Given the description of an element on the screen output the (x, y) to click on. 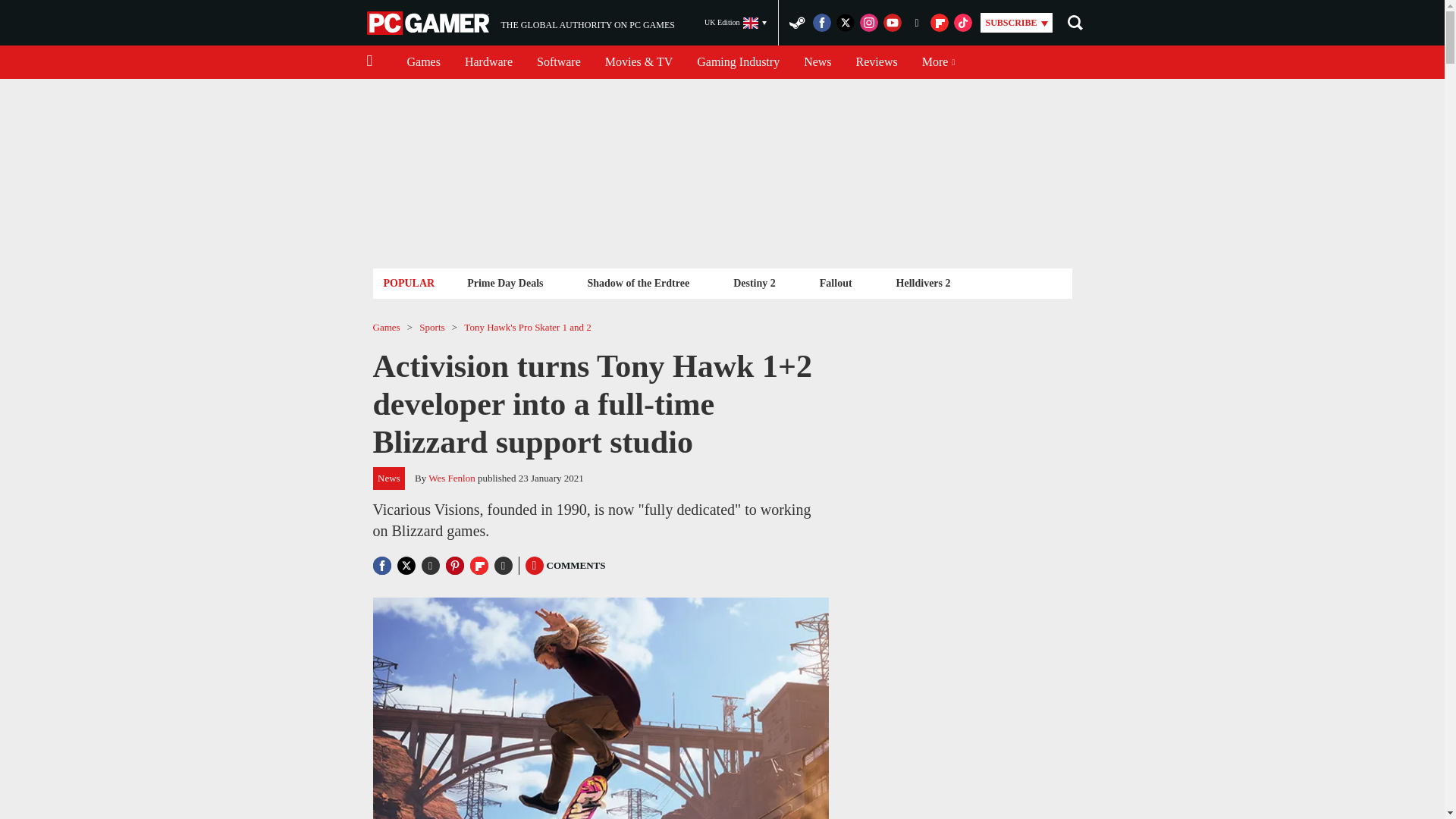
Gaming Industry (738, 61)
News (520, 22)
Games (817, 61)
Prime Day Deals (422, 61)
PC Gamer (504, 282)
UK Edition (429, 22)
Reviews (735, 22)
Shadow of the Erdtree (877, 61)
Hardware (637, 282)
Software (488, 61)
